Given the description of an element on the screen output the (x, y) to click on. 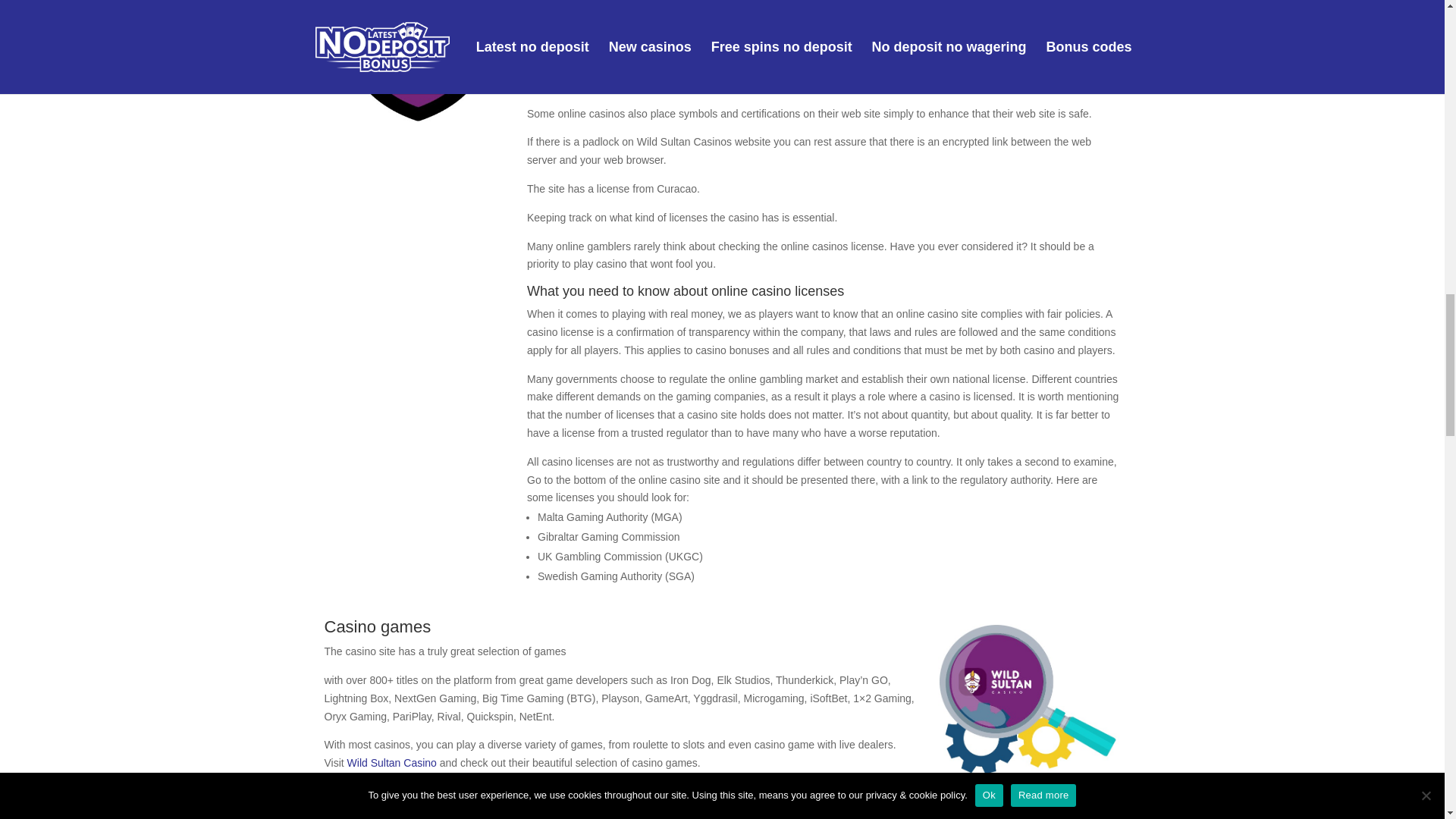
Wild Sultan Casino (391, 762)
